Given the description of an element on the screen output the (x, y) to click on. 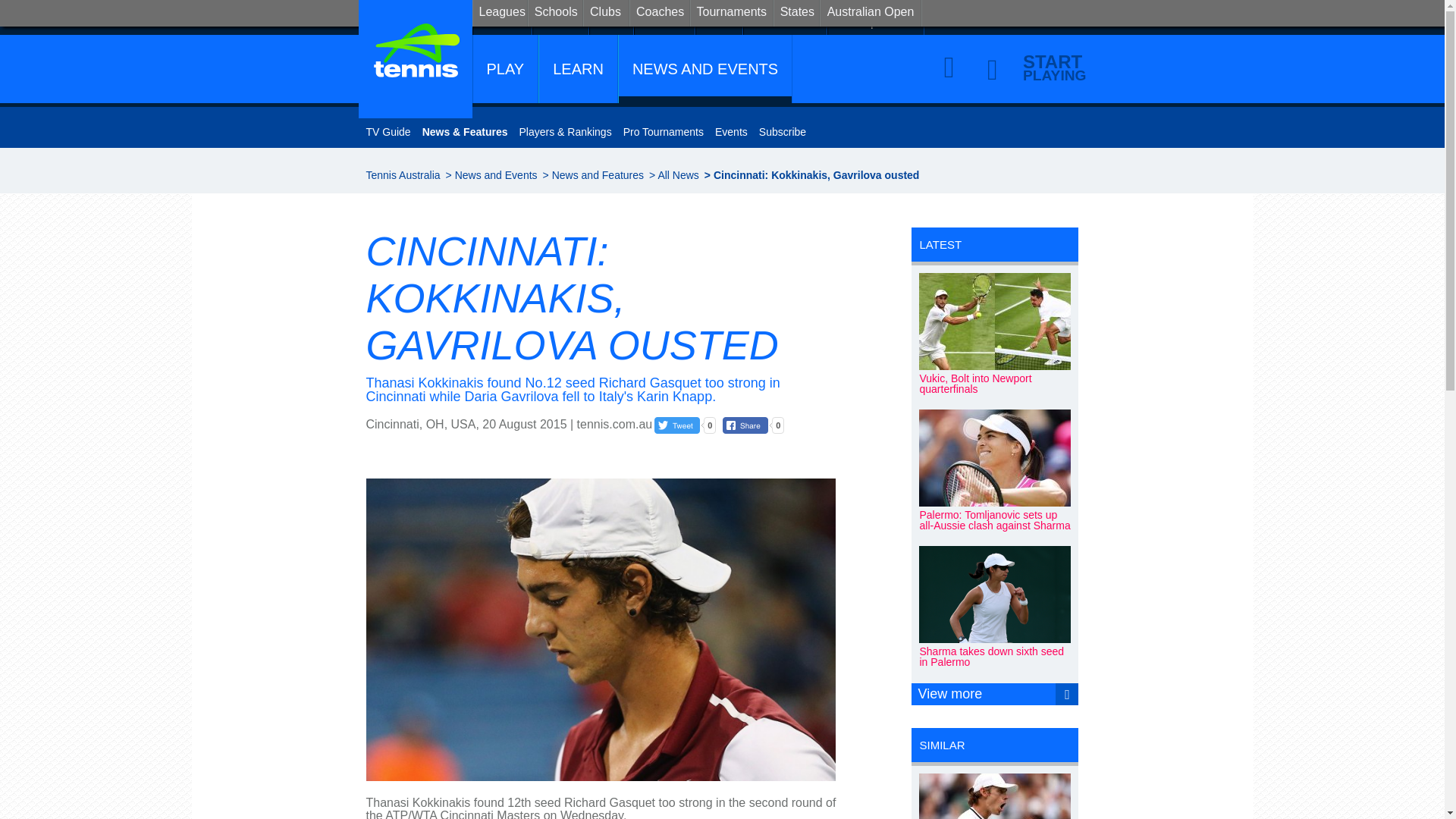
News and Events (495, 174)
States (718, 16)
Clubs (611, 16)
All News (678, 174)
Leagues (502, 16)
Tournaments (785, 16)
Schools (555, 13)
News and Features (597, 174)
Coaches (664, 16)
Tennis Australia (402, 174)
Australian Open (870, 13)
Australian Open (876, 17)
Leagues (499, 13)
Schools (560, 16)
PLAY (505, 69)
